Given the description of an element on the screen output the (x, y) to click on. 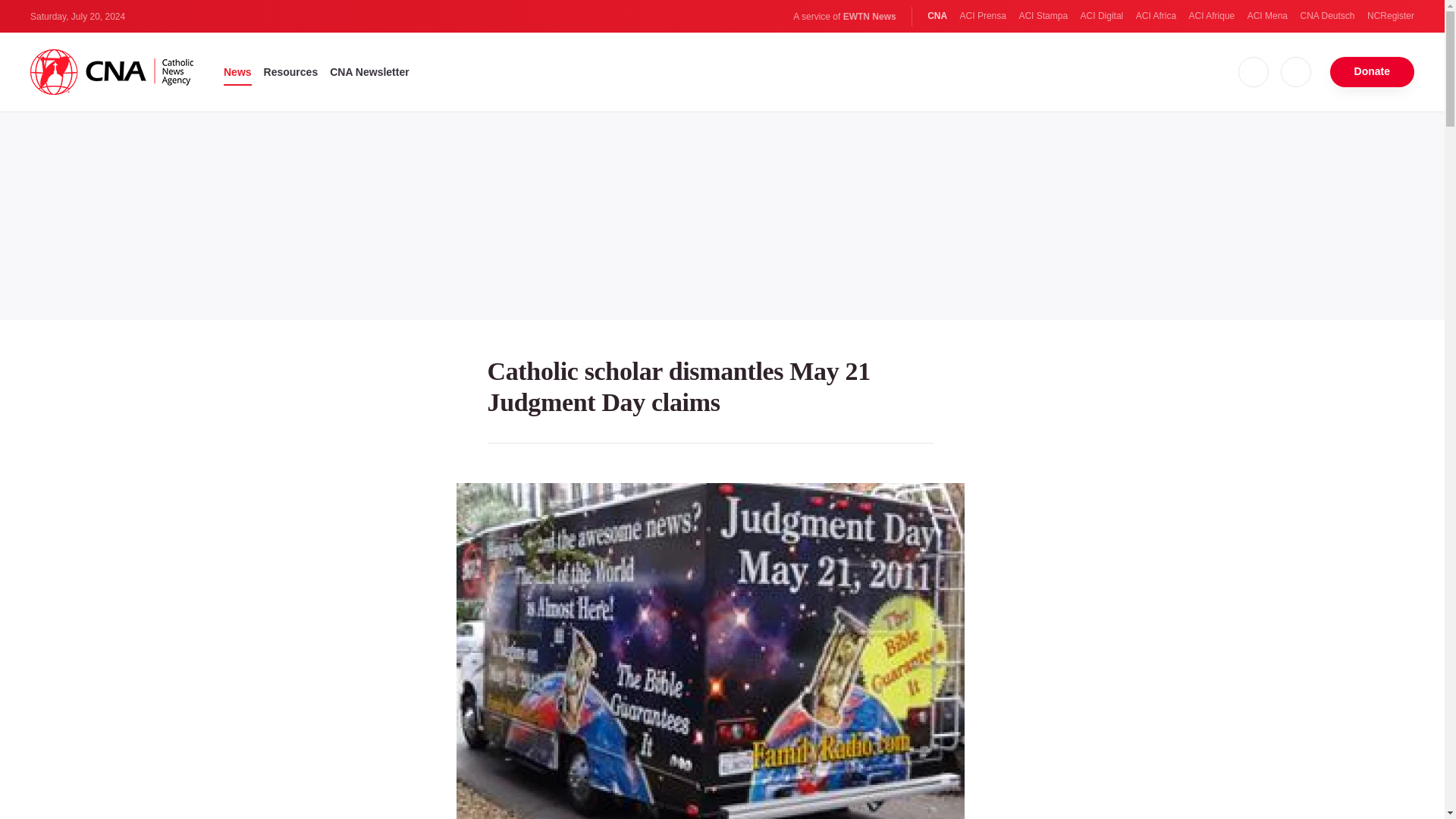
ACI Mena (1267, 16)
CNA (937, 16)
EWTN News (869, 16)
CNA Deutsch (1327, 16)
EWTN News (869, 16)
ACI Digital (1102, 16)
News (237, 71)
Resources (290, 71)
ACI Afrique (1211, 16)
NCRegister (1390, 16)
ACI Prensa (982, 16)
ACI Stampa (1042, 16)
ACI Africa (1155, 16)
